Given the description of an element on the screen output the (x, y) to click on. 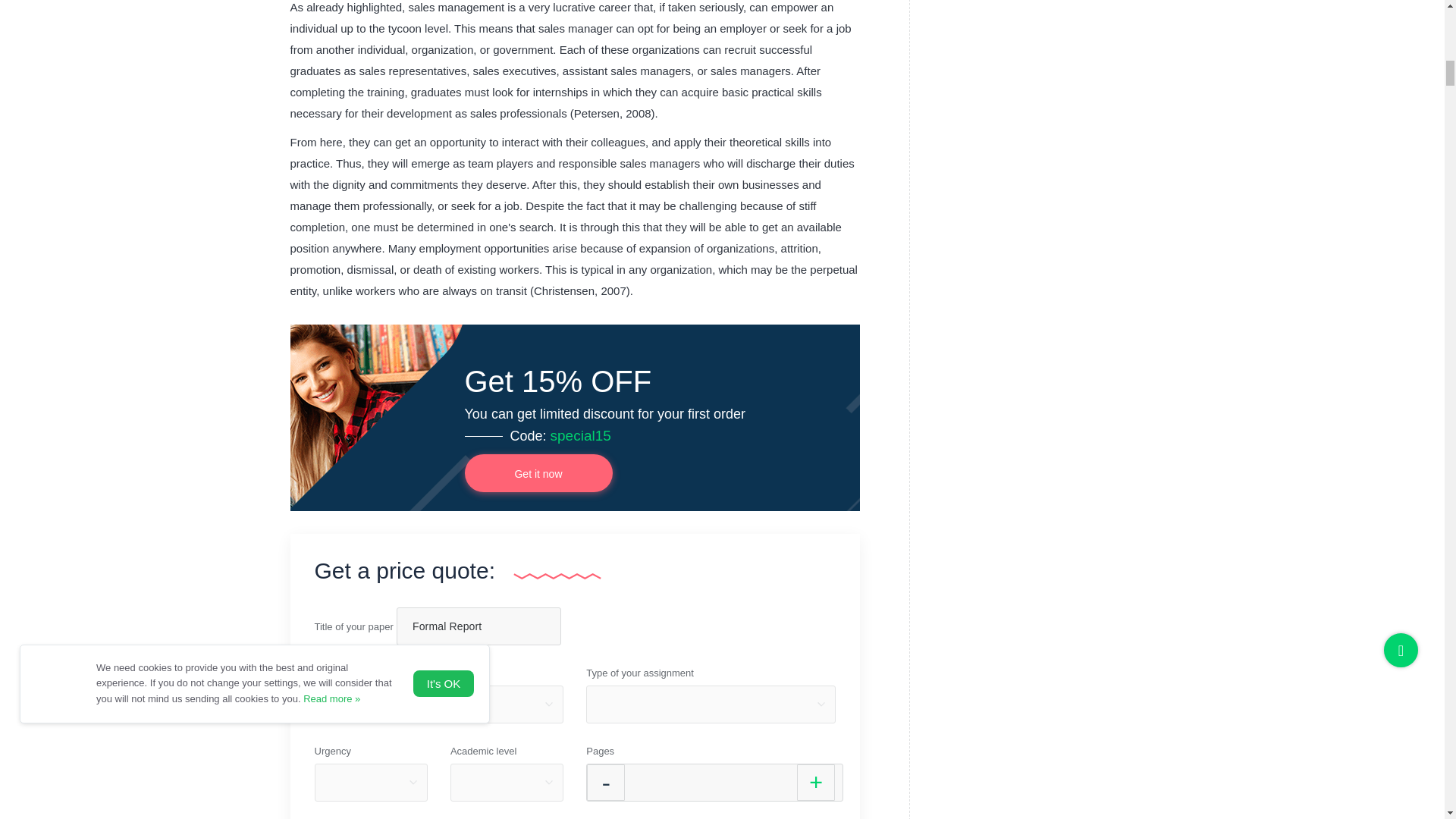
Plus (815, 782)
Formal Report (478, 626)
Minus (605, 782)
Get it now (537, 473)
